Given the description of an element on the screen output the (x, y) to click on. 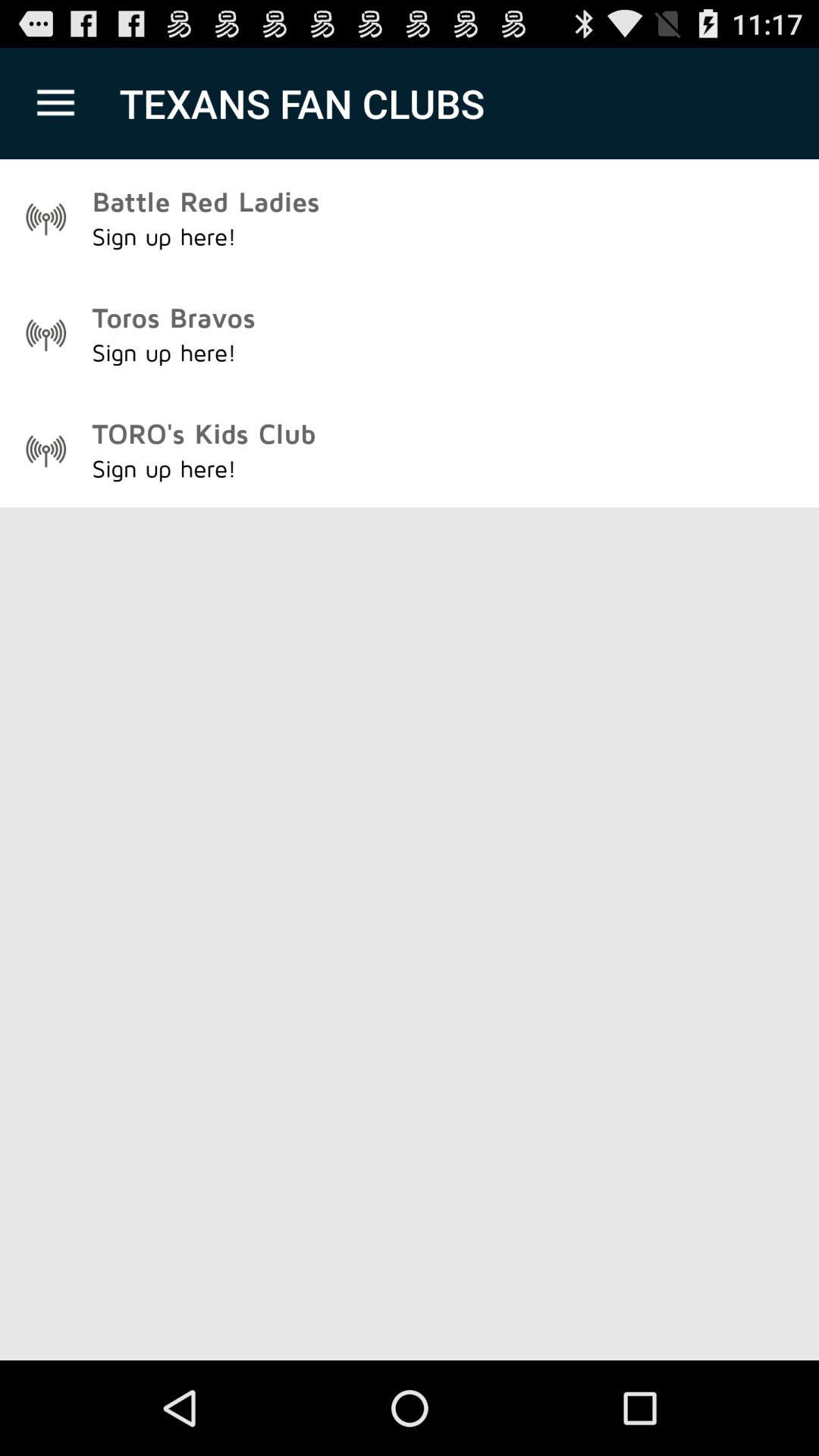
turn on the icon above battle red ladies item (55, 103)
